Given the description of an element on the screen output the (x, y) to click on. 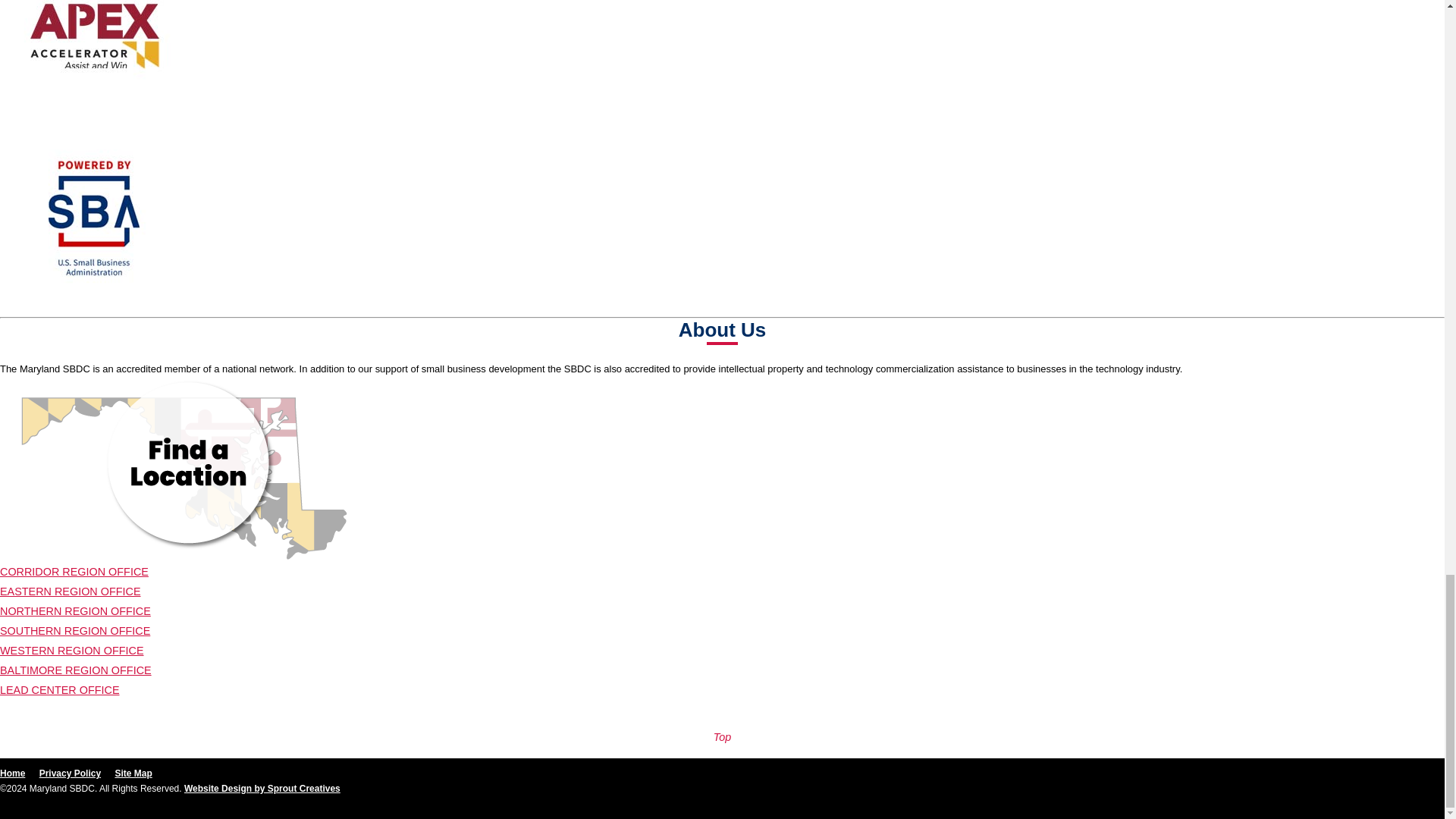
BALTIMORE REGION OFFICE (75, 670)
LEAD CENTER OFFICE (59, 689)
SOUTHERN REGION OFFICE (74, 630)
CORRIDOR REGION OFFICE (74, 571)
WESTERN REGION OFFICE (71, 650)
EASTERN REGION OFFICE (70, 591)
NORTHERN REGION OFFICE (75, 611)
